Given the description of an element on the screen output the (x, y) to click on. 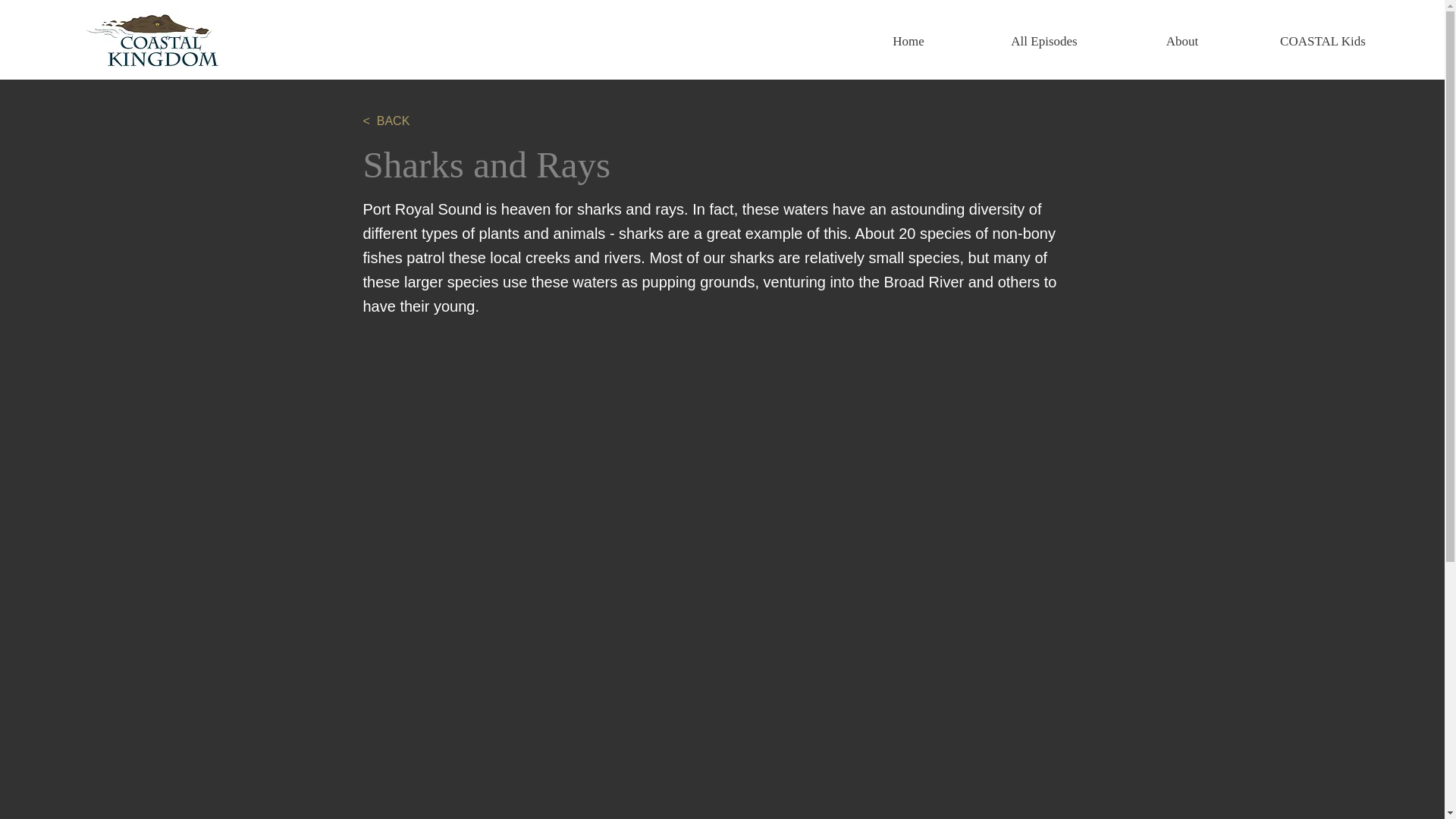
Home (908, 41)
COASTAL Kids (1322, 41)
All Episodes (1043, 41)
About (1181, 41)
